Given the description of an element on the screen output the (x, y) to click on. 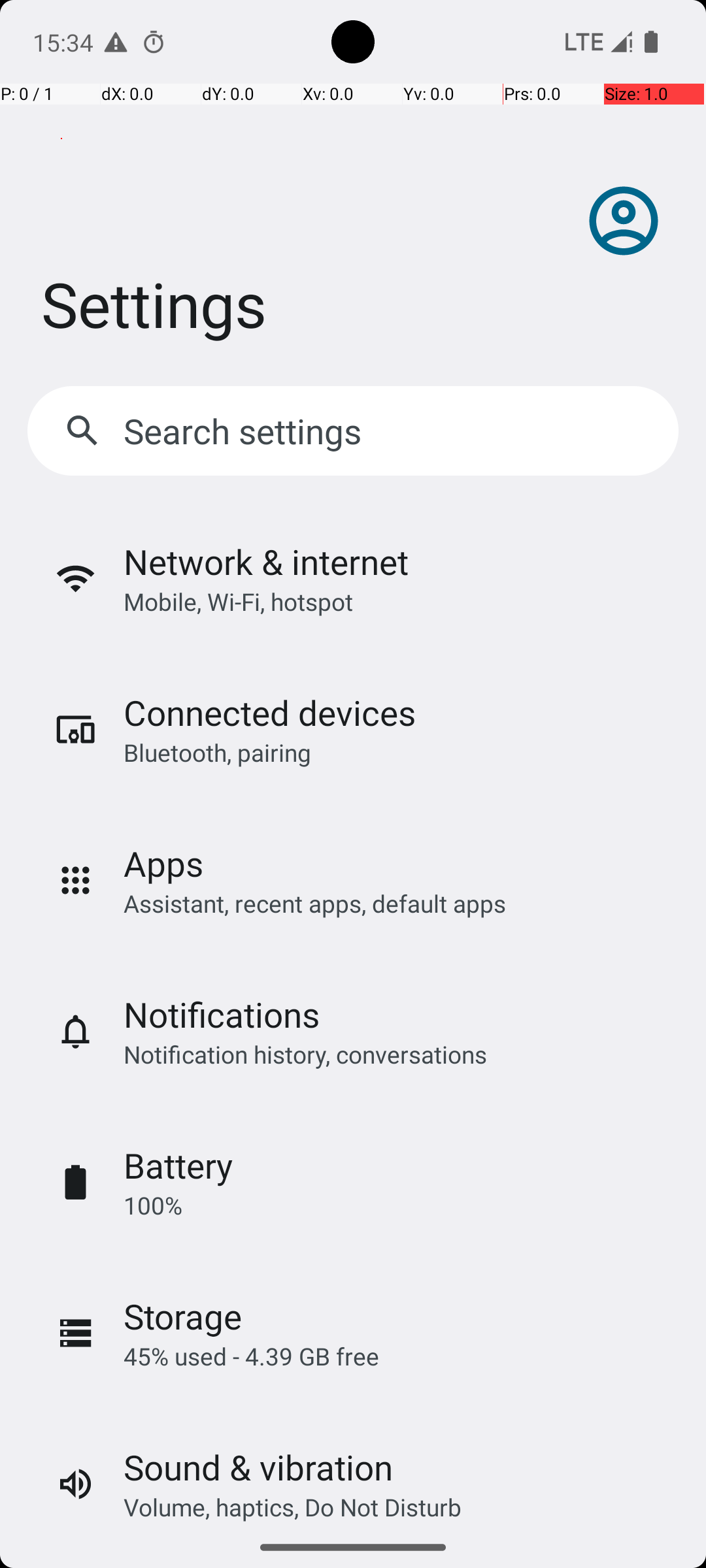
45% used - 4.39 GB free Element type: android.widget.TextView (251, 1355)
